Given the description of an element on the screen output the (x, y) to click on. 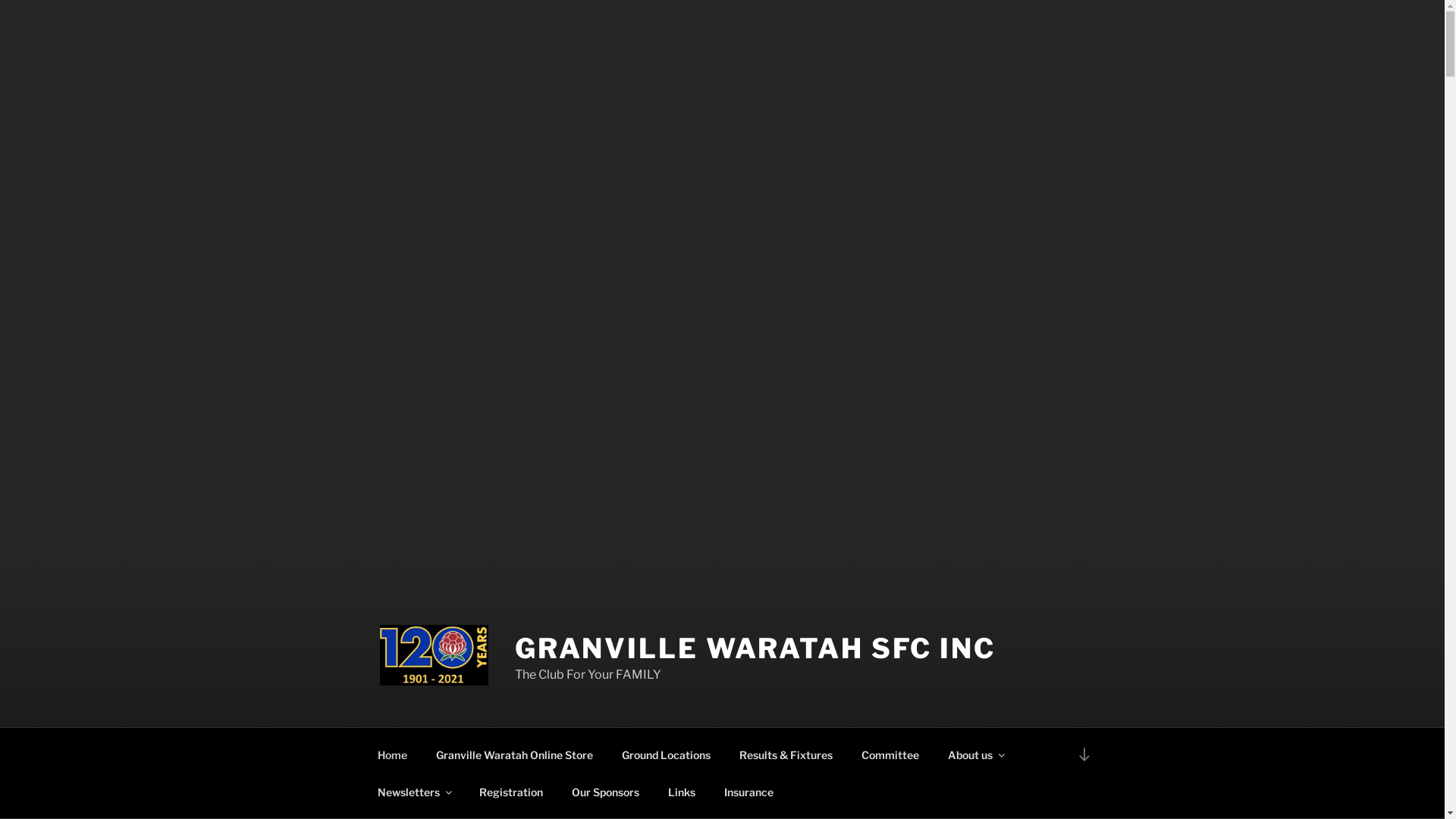
Granville Waratah Online Store Element type: text (514, 753)
Scroll down to content Element type: text (1083, 753)
Home Element type: text (392, 753)
GRANVILLE WARATAH SFC INC Element type: text (754, 648)
Links Element type: text (682, 791)
Ground Locations Element type: text (665, 753)
Insurance Element type: text (749, 791)
Our Sponsors Element type: text (605, 791)
Results & Fixtures Element type: text (786, 753)
Committee Element type: text (889, 753)
Registration Element type: text (510, 791)
About us Element type: text (975, 753)
Newsletters Element type: text (413, 791)
